Given the description of an element on the screen output the (x, y) to click on. 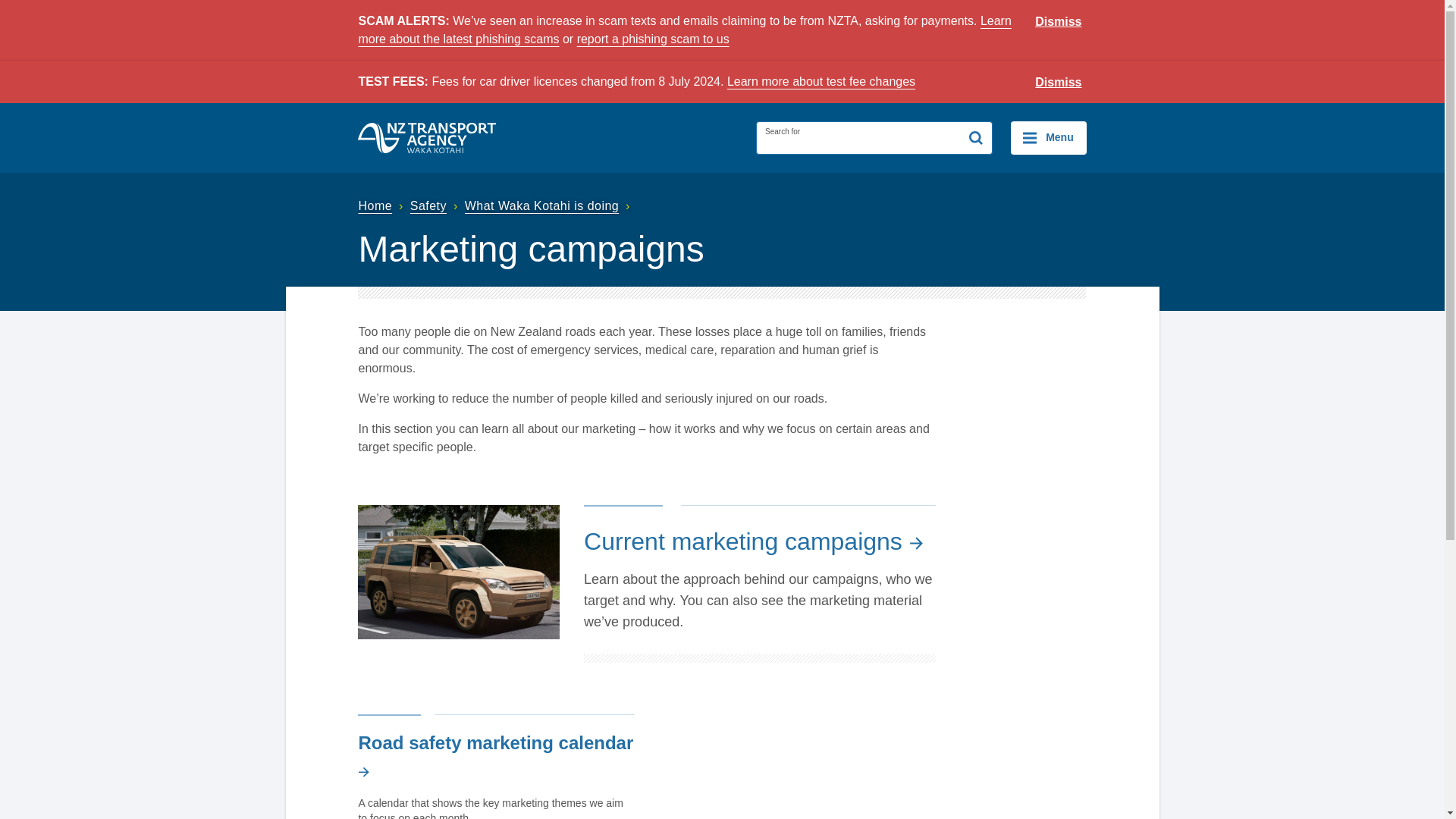
report a phishing scam to us (652, 38)
Learn more about the latest phishing scams (684, 29)
Dismiss (1058, 21)
Dismiss (1058, 82)
Learn more about test fee changes (820, 81)
Menu (1048, 137)
NZ Transport Agency Waka Kotahi (427, 137)
Home (382, 205)
